Given the description of an element on the screen output the (x, y) to click on. 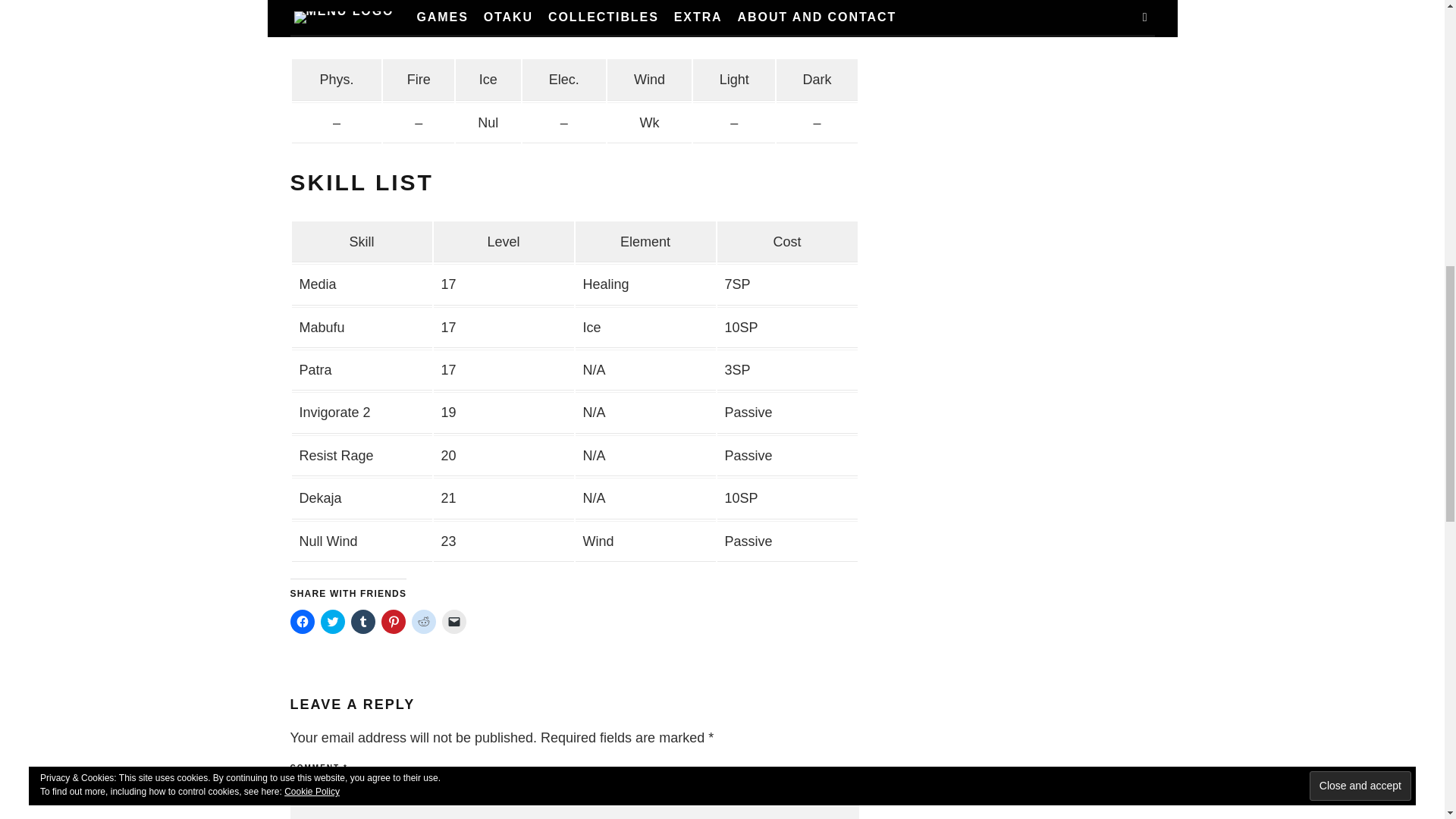
Click to share on Facebook (301, 621)
Click to share on Tumblr (362, 621)
Click to share on Reddit (422, 621)
Click to share on Pinterest (392, 621)
Click to share on Twitter (331, 621)
Click to email a link to a friend (453, 621)
